Given the description of an element on the screen output the (x, y) to click on. 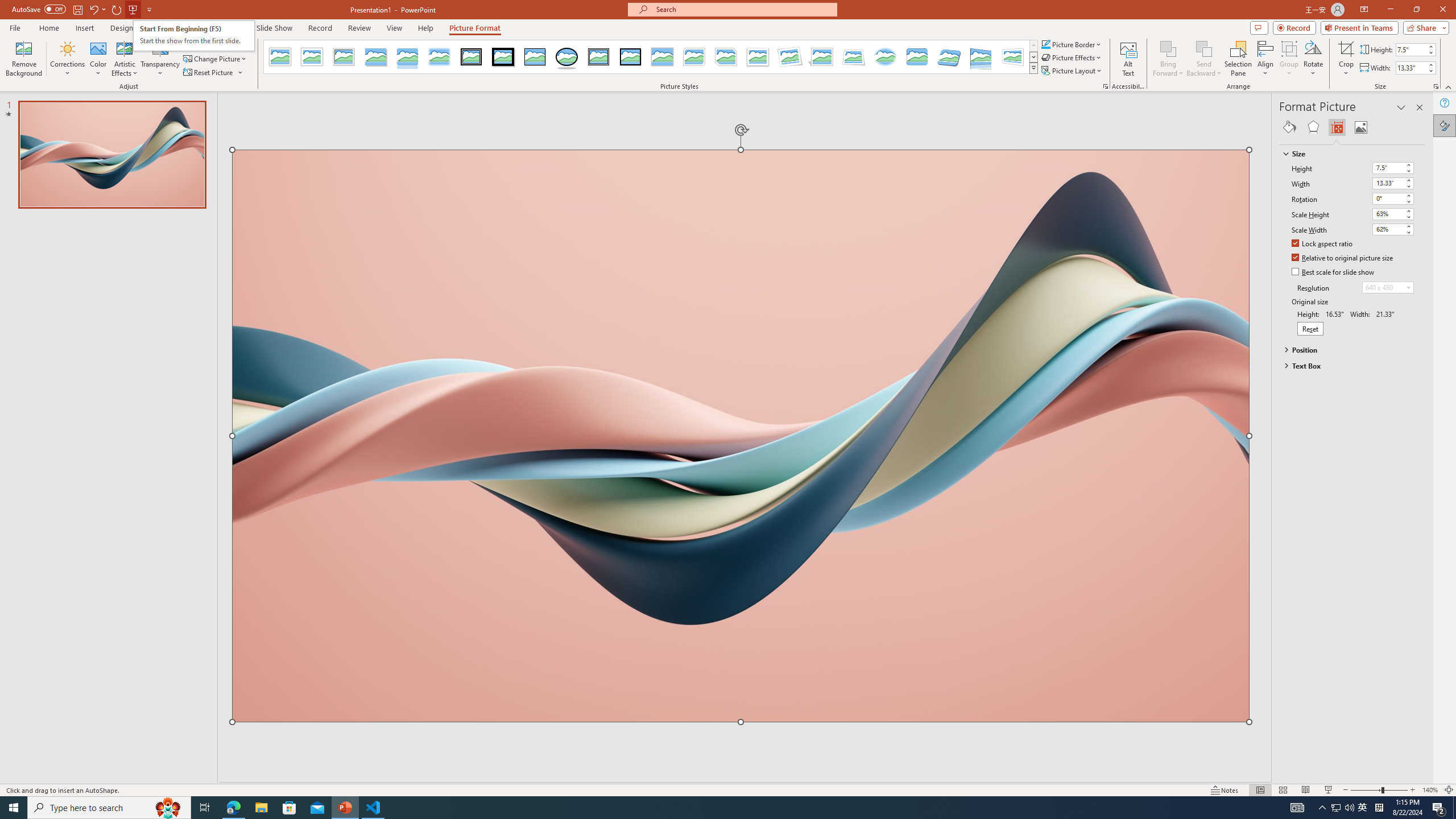
Slide (111, 154)
Zoom to Fit  (1449, 790)
From Beginning (133, 9)
Thick Matte, Black (503, 56)
Insert (83, 28)
Corrections (67, 58)
Bring Forward (1168, 58)
Size & Properties (1336, 126)
Picture (1361, 126)
Drop Shadow Rectangle (375, 56)
Row Down (1033, 56)
Undo (96, 9)
Size and Position... (1435, 85)
Save (77, 9)
Size (1347, 153)
